Given the description of an element on the screen output the (x, y) to click on. 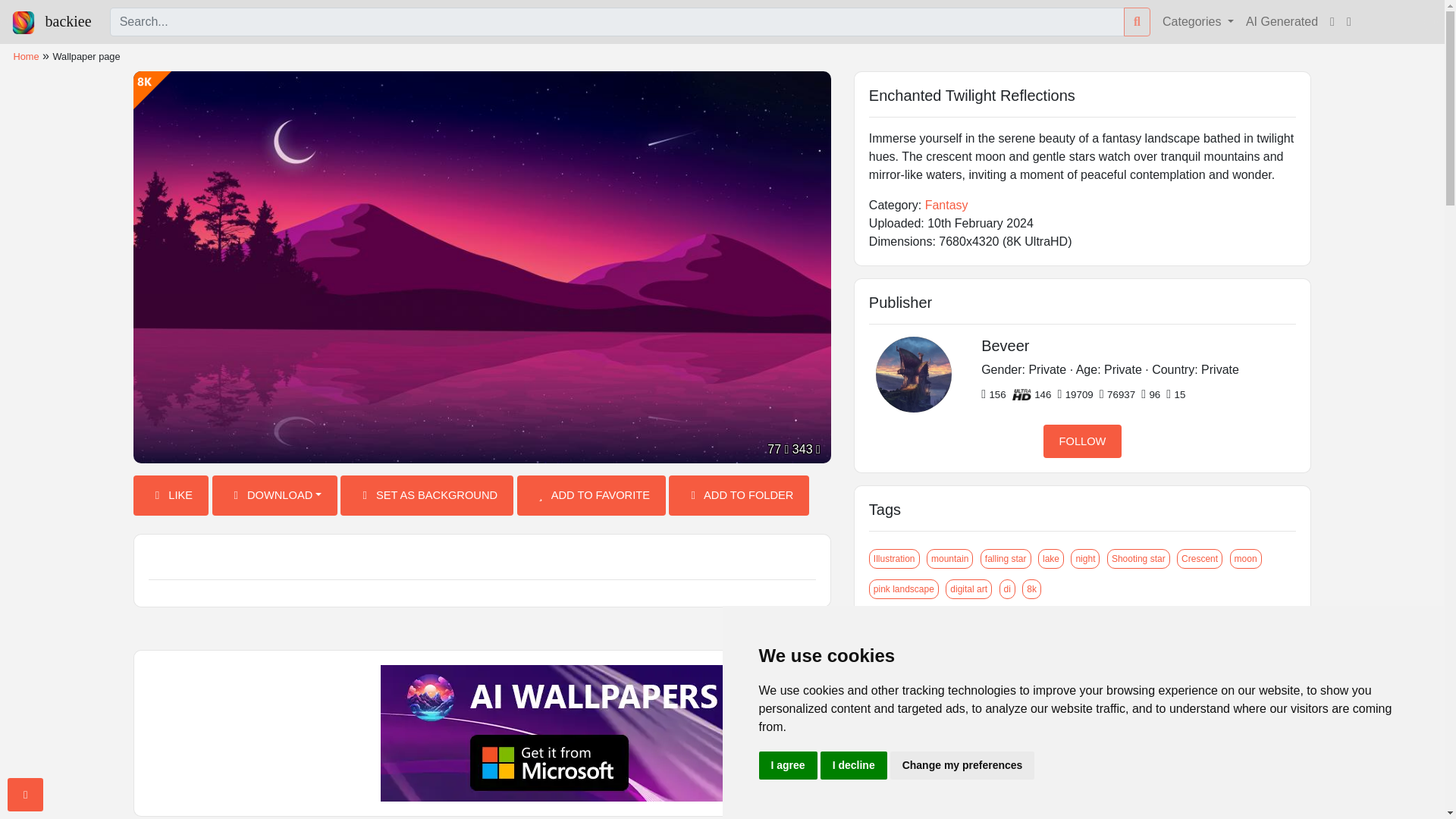
Fantasy (946, 205)
backiee (51, 21)
Comments (481, 557)
SET AS BACKGROUND (426, 495)
LIKE (170, 495)
I decline (853, 765)
ADD TO FAVORITE (590, 495)
I agree (787, 765)
ADD TO FOLDER (738, 495)
Change my preferences (962, 765)
